Given the description of an element on the screen output the (x, y) to click on. 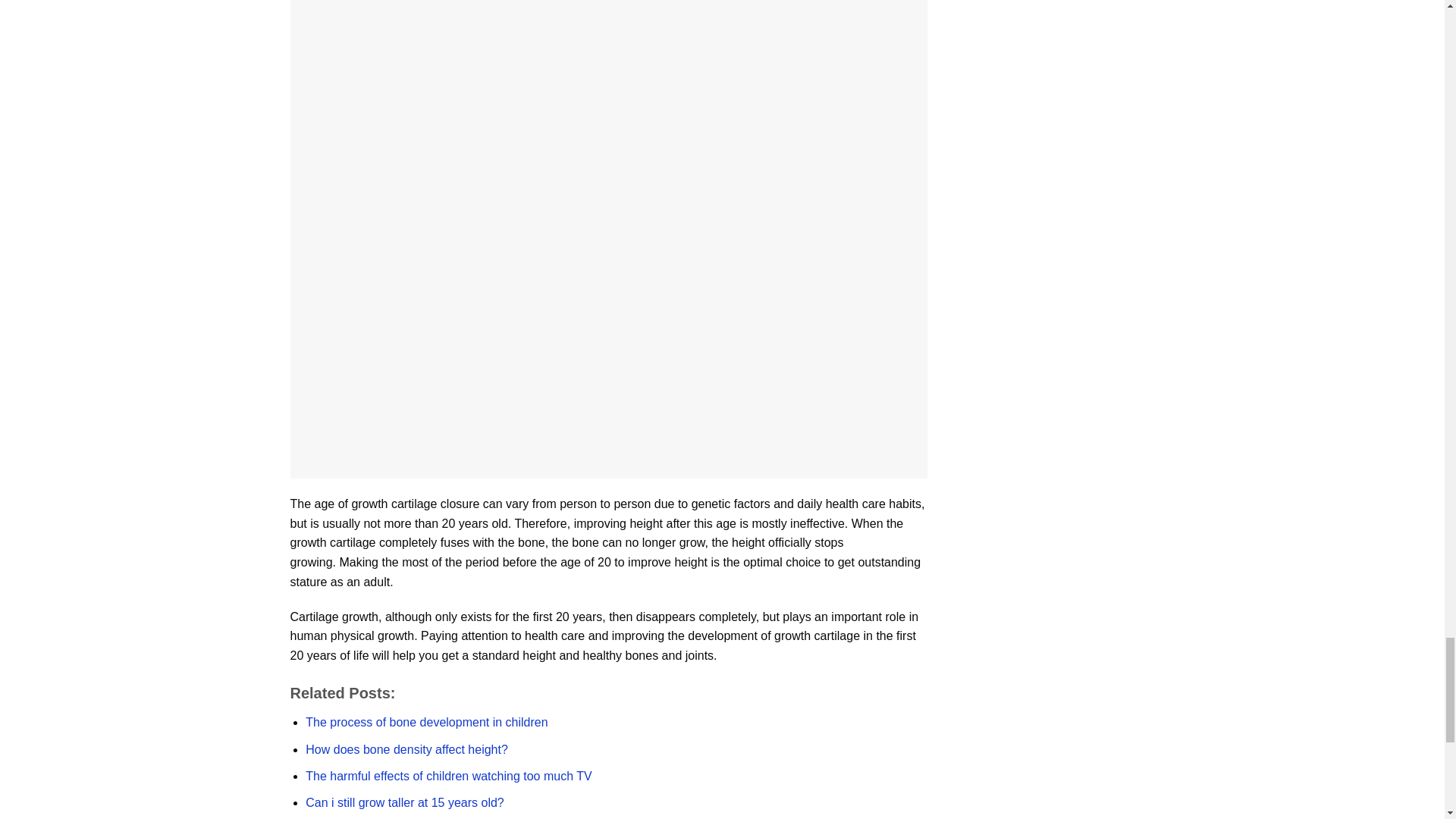
The harmful effects of children watching too much TV (448, 775)
The process of bone development in children (426, 721)
How does bone density affect height? (406, 748)
Can i still grow taller at 15 years old? (404, 802)
